Given the description of an element on the screen output the (x, y) to click on. 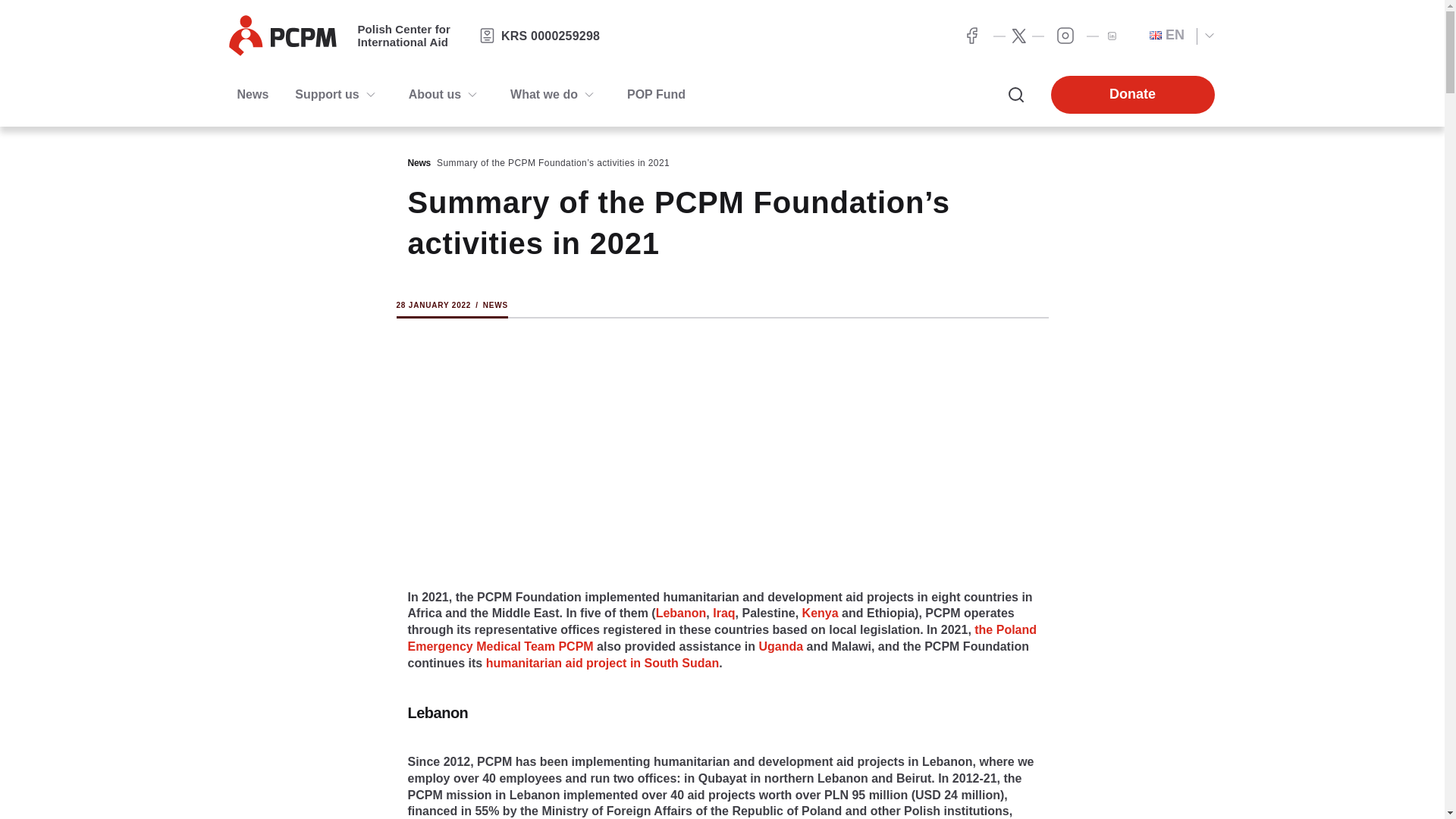
Facebook (971, 35)
Twitter (1110, 35)
What we do Submenu (588, 94)
Uganda (780, 645)
NEWS (495, 305)
LinkedIn (1064, 35)
Donate (1132, 95)
About us Submenu (472, 94)
Support us (326, 94)
Twitter (1018, 35)
Kenya (820, 612)
Main Logo (282, 35)
humanitarian aid project in South Sudan (602, 662)
What we do (544, 94)
Lebanon (681, 612)
